Given the description of an element on the screen output the (x, y) to click on. 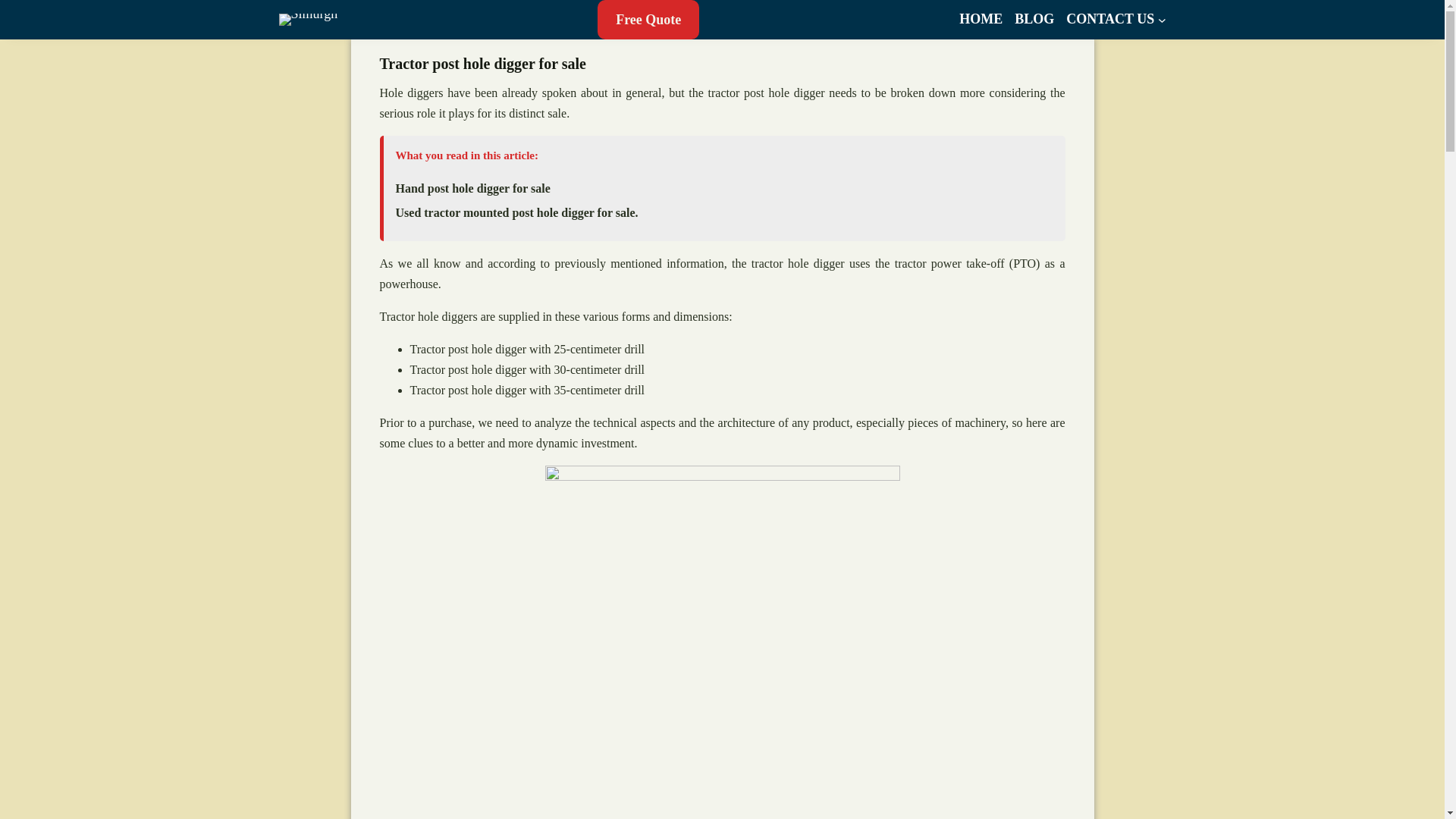
HOME (981, 19)
Free Quote (647, 19)
Used tractor mounted post hole digger for sale. (517, 213)
CONTACT US (1109, 19)
Hand post hole digger for sale (473, 188)
BLOG (1034, 19)
